Given the description of an element on the screen output the (x, y) to click on. 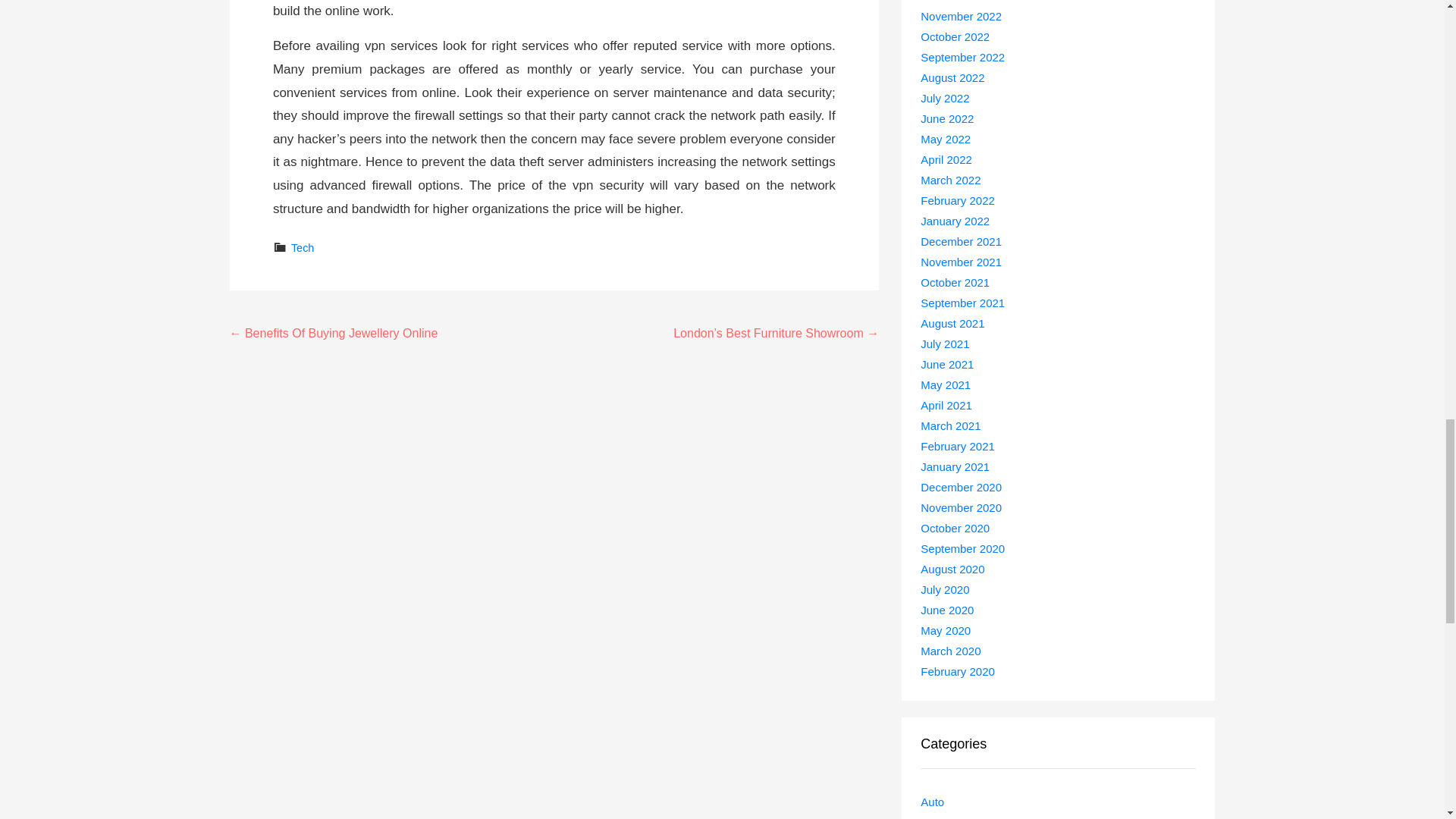
November 2022 (960, 15)
December 2022 (960, 1)
Tech (302, 247)
